Given the description of an element on the screen output the (x, y) to click on. 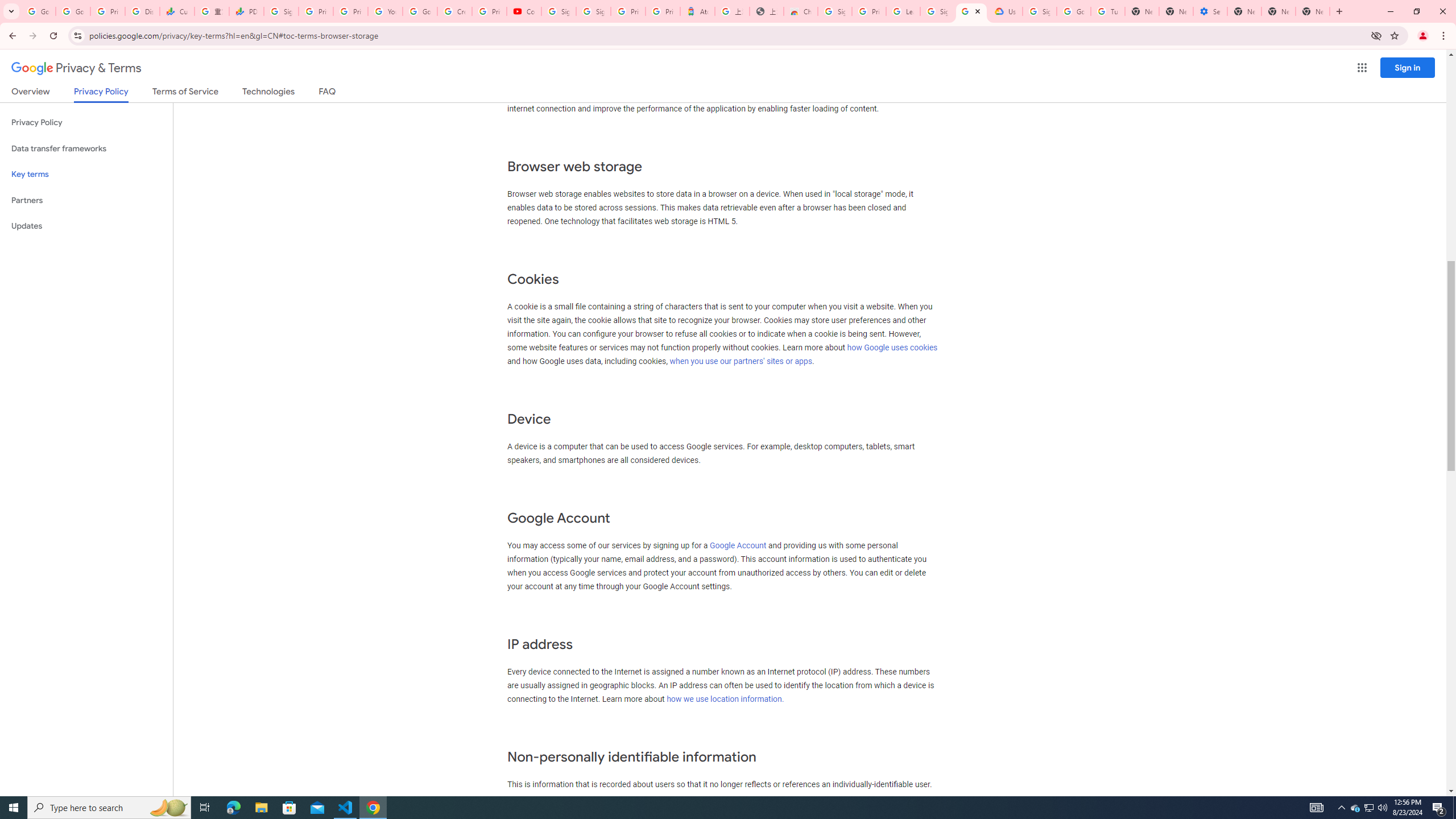
when you use our partners' sites or apps (740, 361)
Sign in - Google Accounts (937, 11)
Google Workspace Admin Community (38, 11)
how Google uses cookies (892, 347)
how we use location information. (725, 698)
Create your Google Account (454, 11)
Privacy Checkup (349, 11)
